Given the description of an element on the screen output the (x, y) to click on. 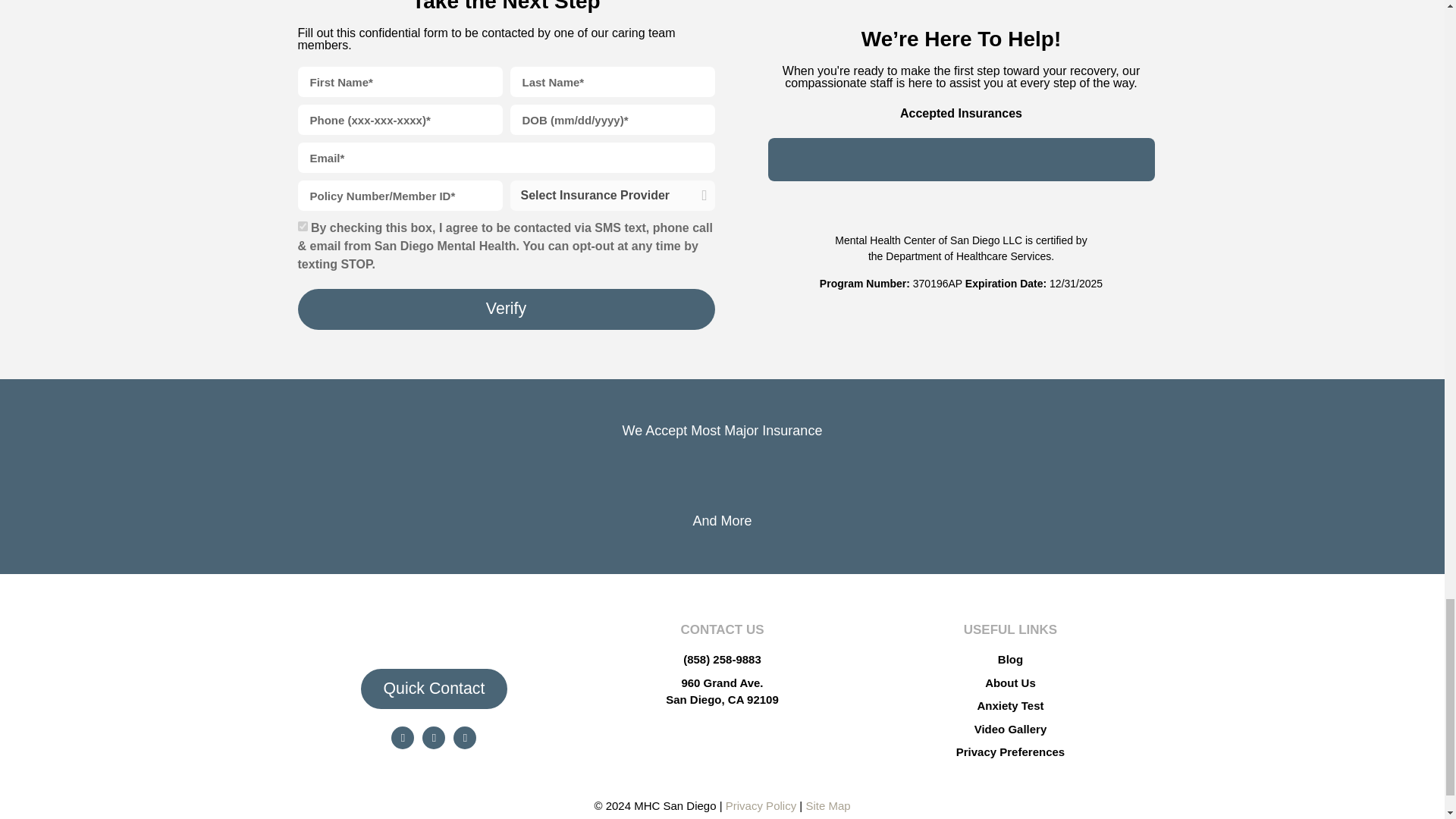
on (302, 225)
